Given the description of an element on the screen output the (x, y) to click on. 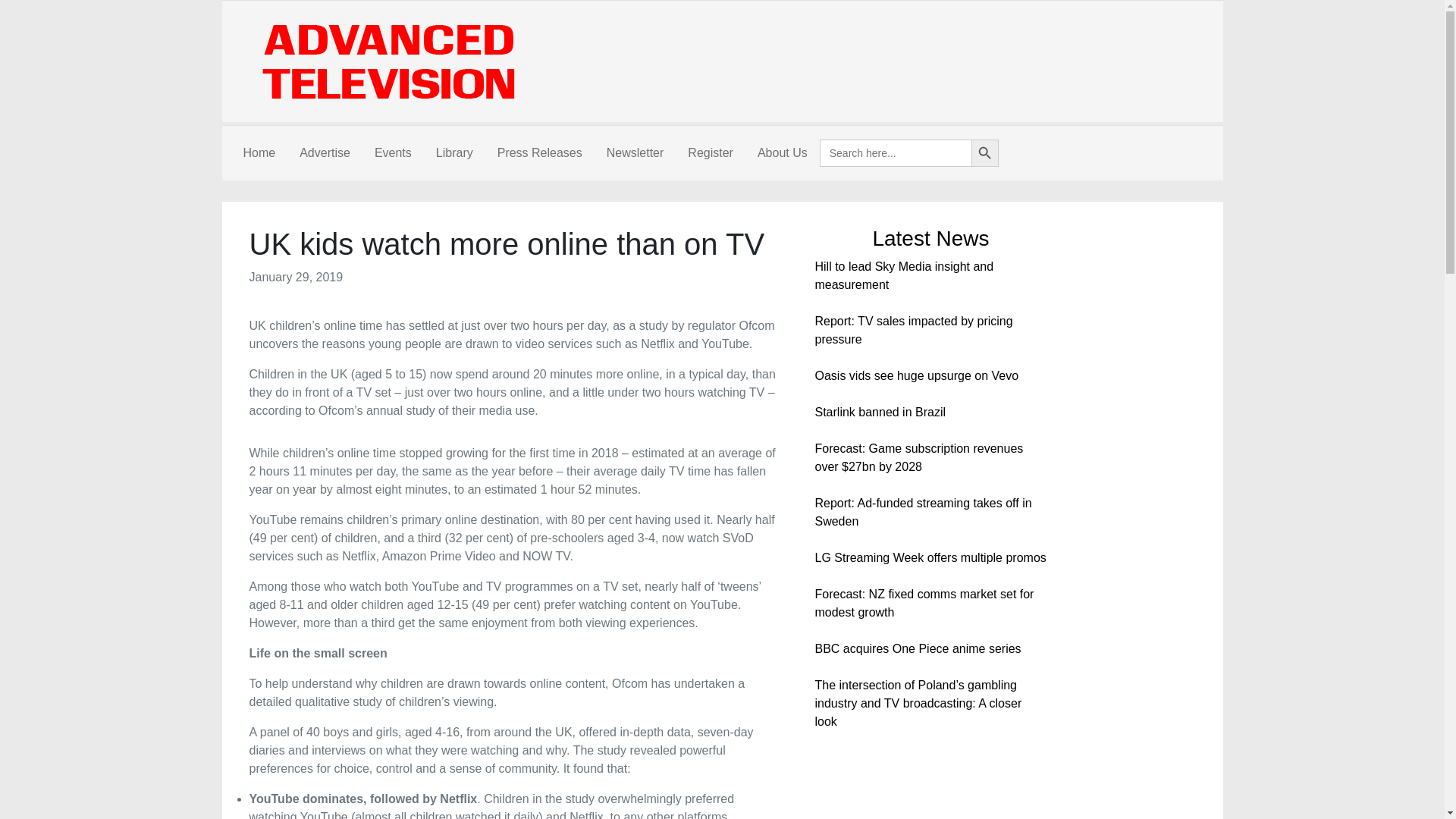
Forecast: NZ fixed comms market set for modest growth (923, 603)
Register (710, 153)
Oasis vids see huge upsurge on Vevo (915, 375)
LG Streaming Week offers multiple promos (929, 557)
Library (453, 153)
Report: TV sales impacted by pricing pressure (912, 329)
Hill to lead Sky Media insight and measurement (902, 275)
Home (258, 153)
Events (392, 153)
BBC acquires One Piece anime series (916, 648)
